Given the description of an element on the screen output the (x, y) to click on. 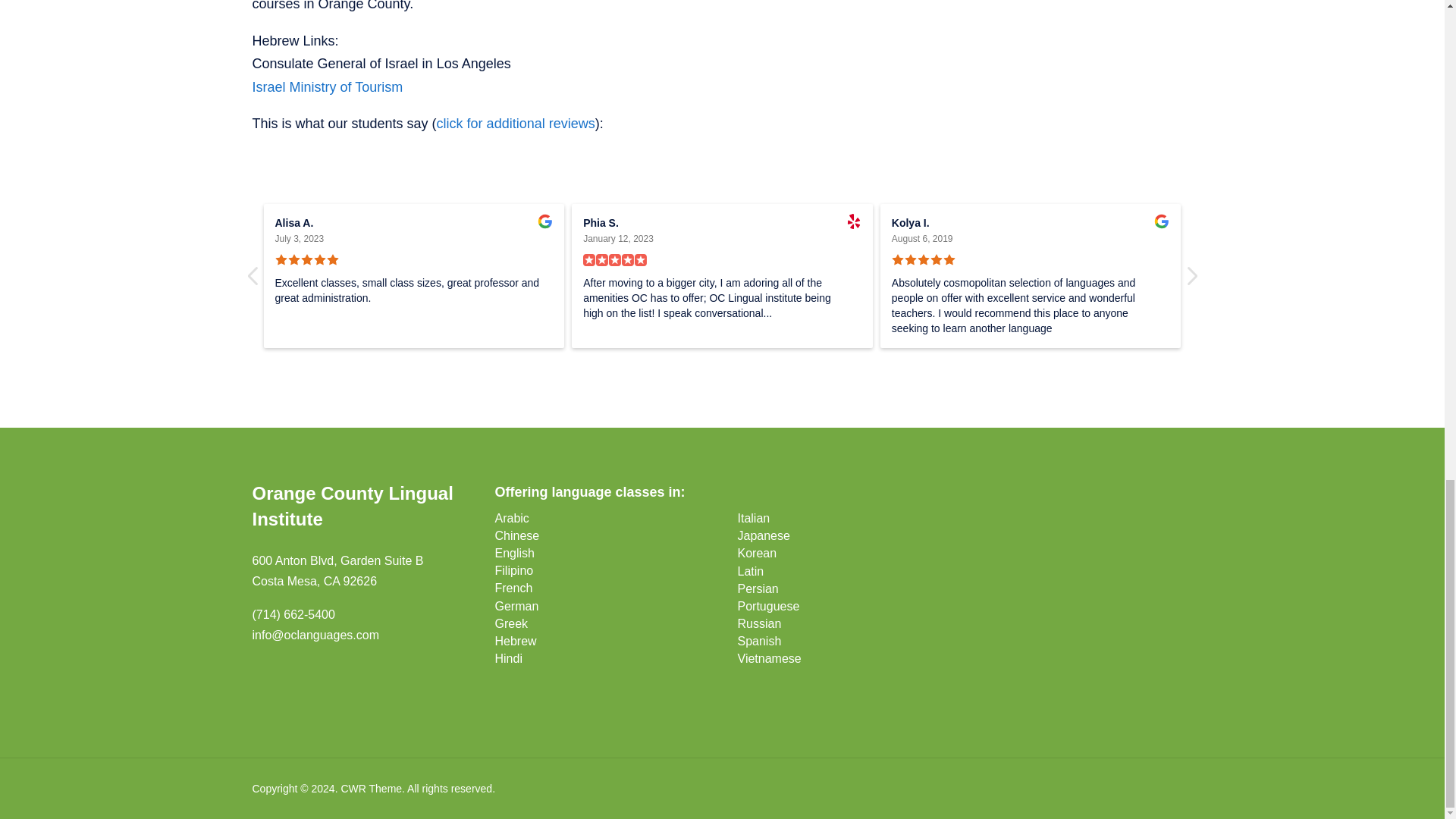
French (513, 587)
Russian (758, 623)
Filipino (513, 570)
Latin (749, 571)
Persian (756, 588)
English (514, 553)
Italian (753, 517)
Chinese (516, 535)
Spanish (758, 640)
Arabic (511, 517)
